Given the description of an element on the screen output the (x, y) to click on. 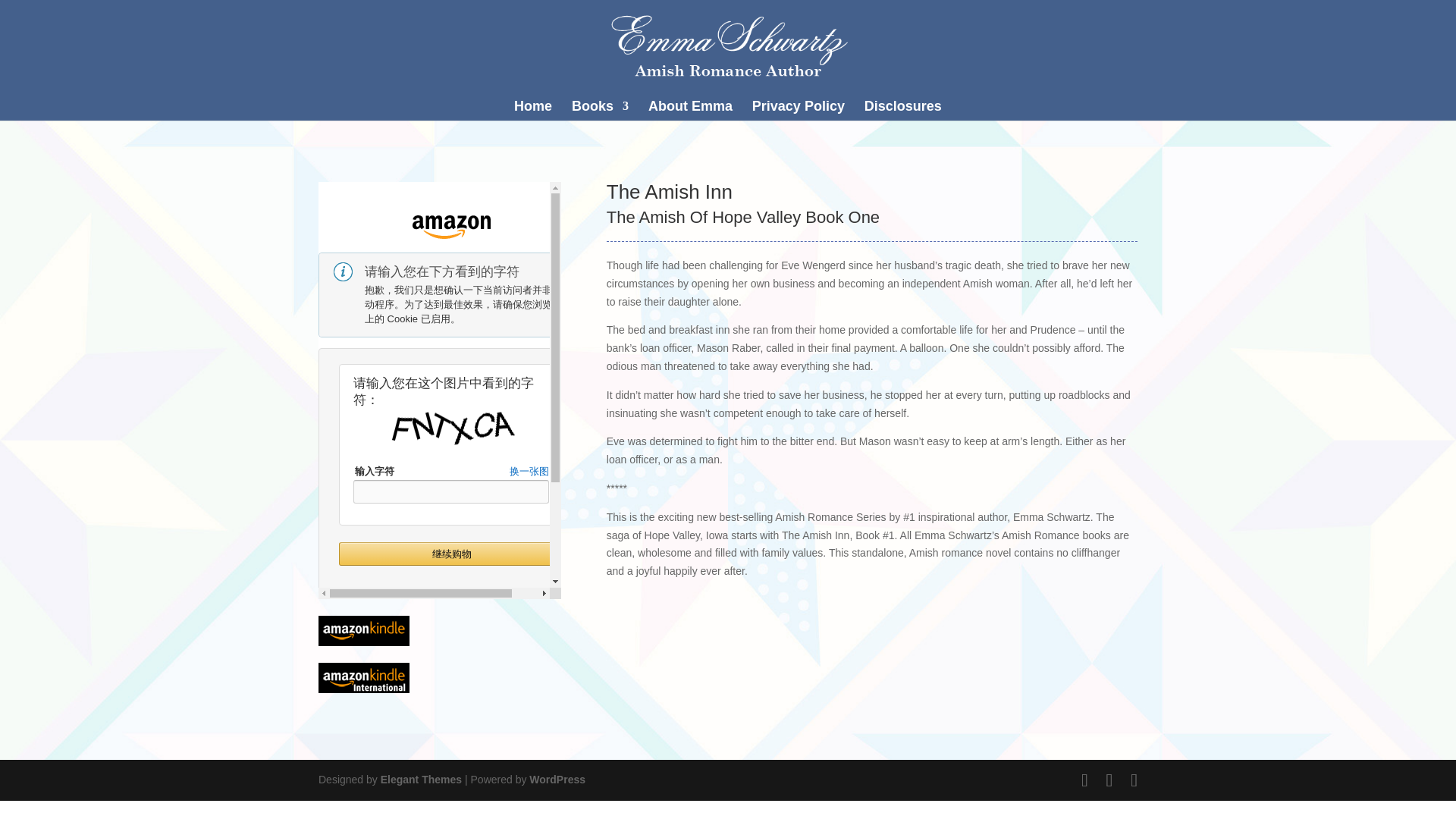
About Emma (689, 113)
Books (600, 113)
Home (532, 113)
Premium WordPress Themes (420, 779)
Privacy Policy (798, 113)
Disclosures (903, 113)
